Given the description of an element on the screen output the (x, y) to click on. 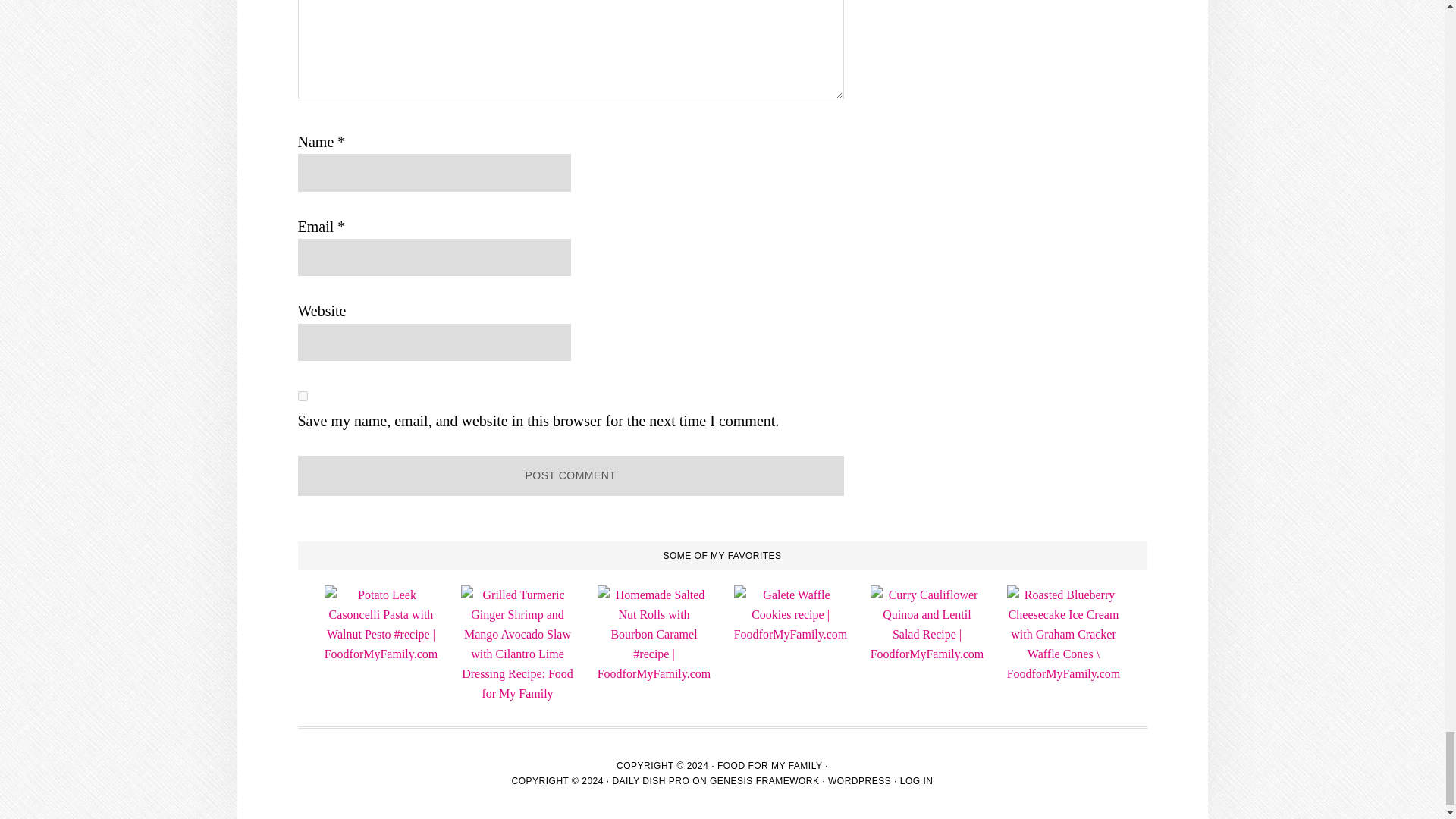
Post Comment (570, 475)
yes (302, 396)
